Given the description of an element on the screen output the (x, y) to click on. 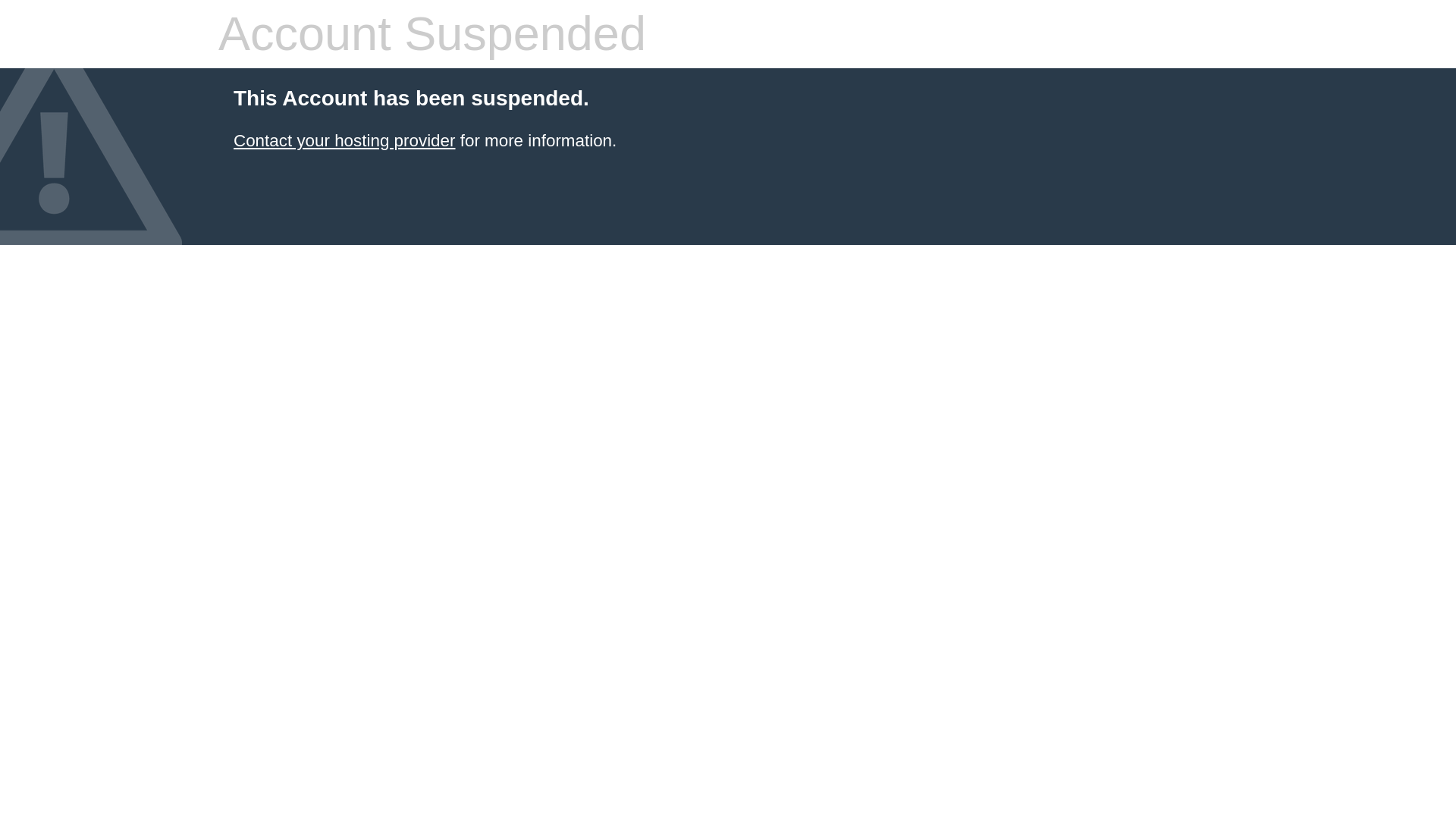
Contact your hosting provider (343, 140)
